Given the description of an element on the screen output the (x, y) to click on. 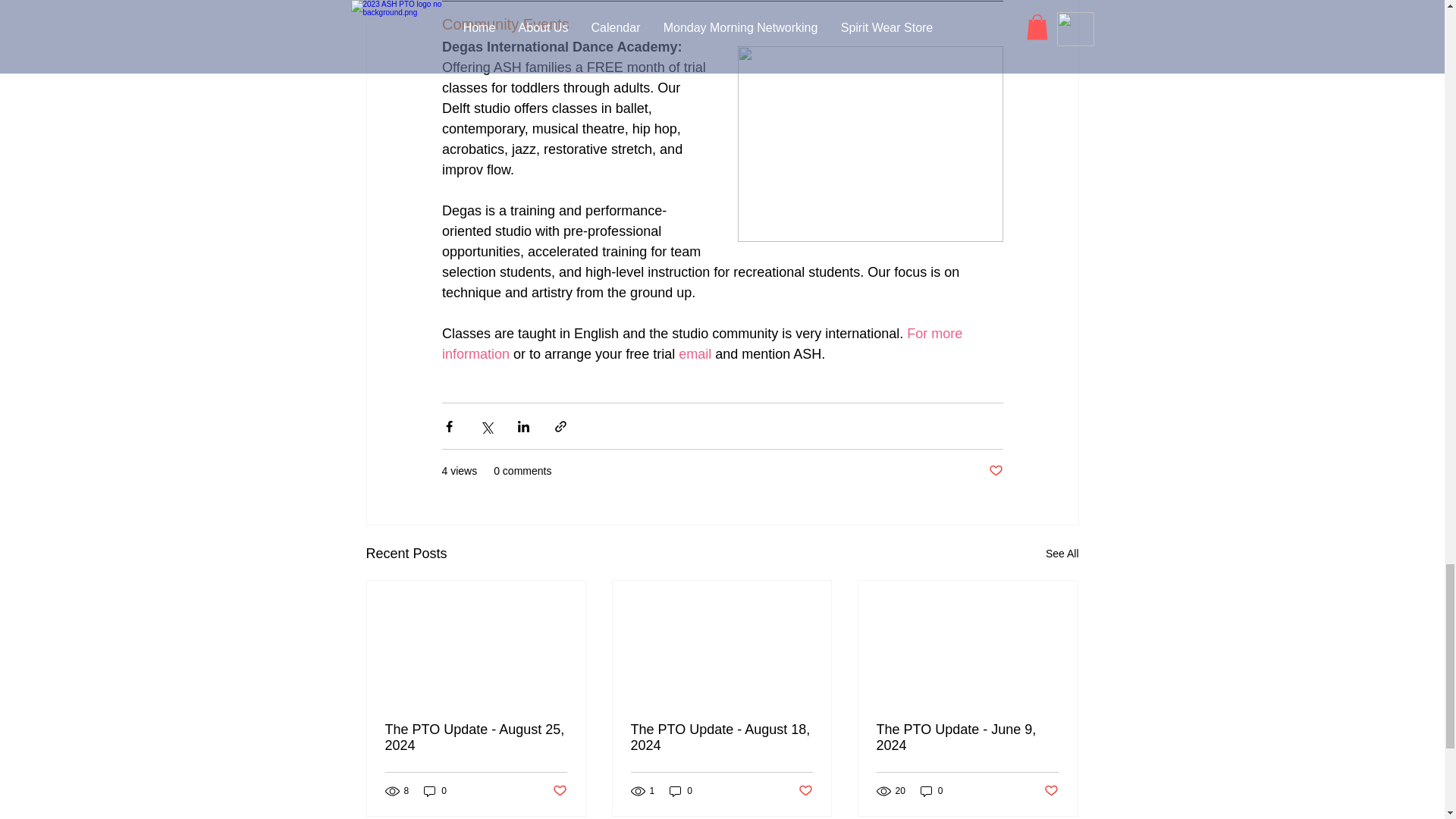
See All (1061, 553)
email (694, 353)
0 (435, 790)
Post not marked as liked (558, 790)
For more information (703, 343)
Post not marked as liked (804, 790)
0 (681, 790)
0 (931, 790)
Post not marked as liked (995, 471)
The PTO Update - August 25, 2024 (476, 737)
